Given the description of an element on the screen output the (x, y) to click on. 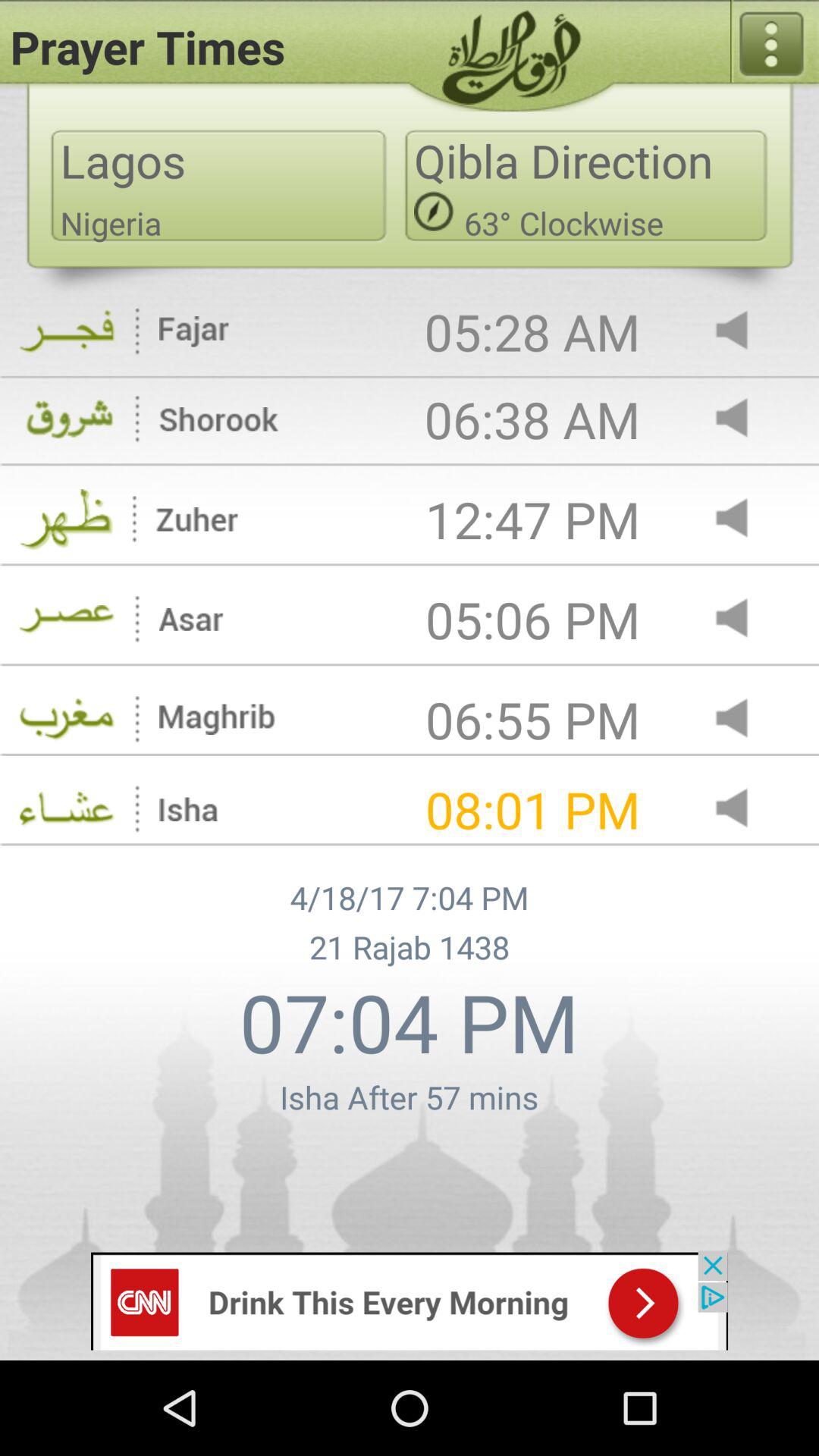
adjust volumn button (744, 809)
